Given the description of an element on the screen output the (x, y) to click on. 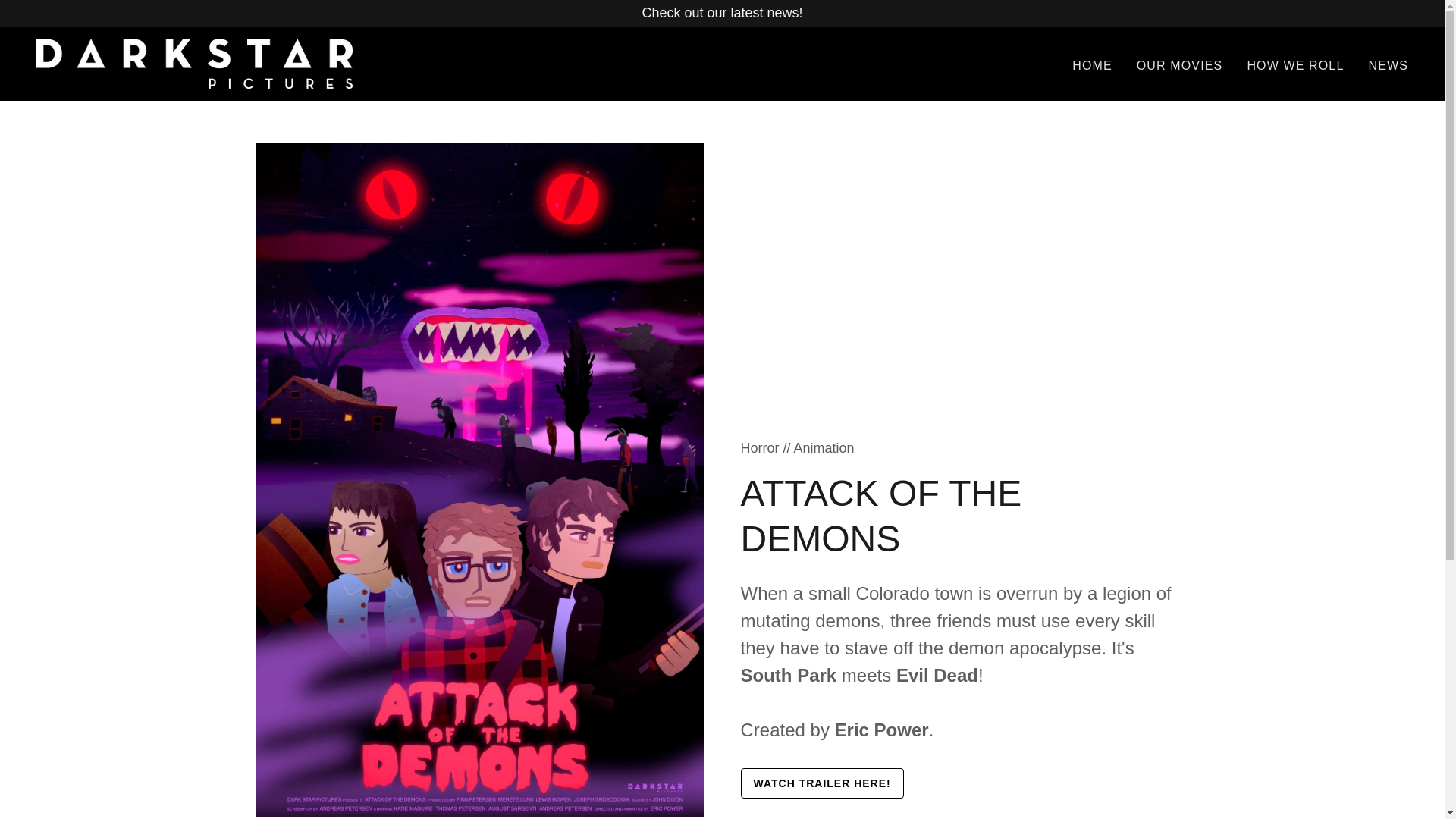
NEWS (1387, 64)
OUR MOVIES (1179, 64)
HOW WE ROLL (1294, 64)
HOME (1091, 64)
WATCH TRAILER HERE! (820, 783)
Dark Star Pictures (194, 62)
